Given the description of an element on the screen output the (x, y) to click on. 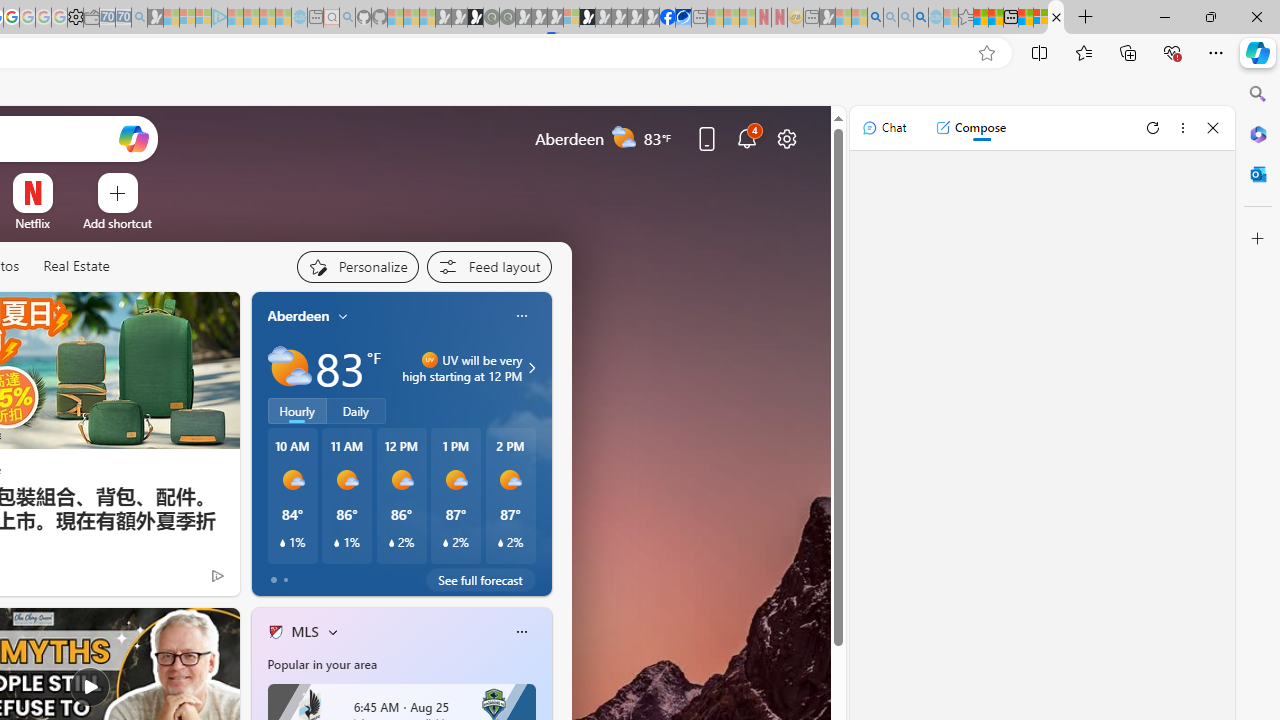
Class: weather-current-precipitation-glyph (500, 543)
Microsoft Start Gaming - Sleeping (155, 17)
Bing AI - Search (875, 17)
github - Search - Sleeping (347, 17)
